Given the description of an element on the screen output the (x, y) to click on. 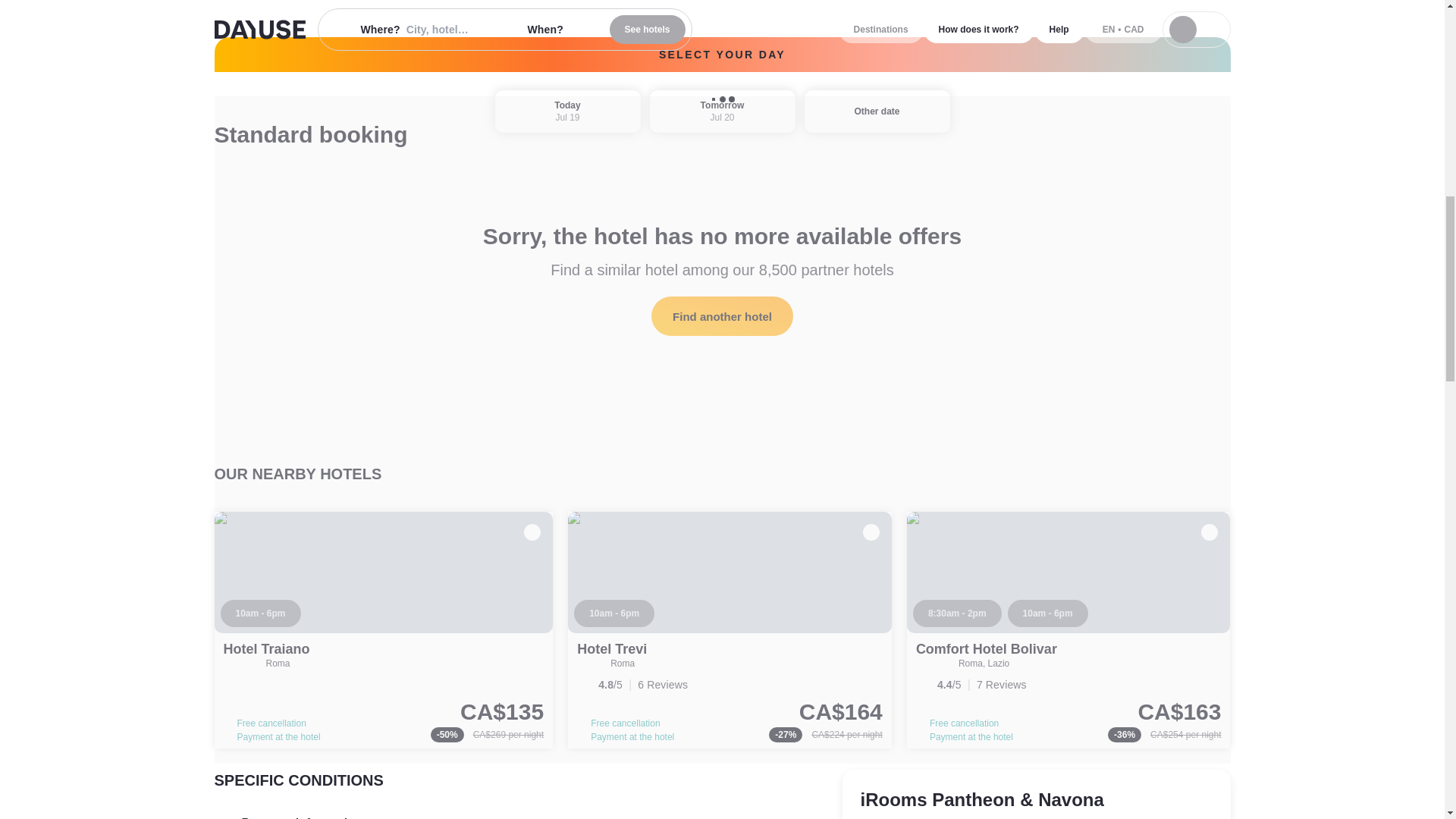
Hotel Traiano (265, 648)
Comfort Hotel Bolivar (1068, 629)
Find another hotel (721, 315)
Hotel Traiano (265, 648)
Hotel Traiano (383, 629)
10am - 6pm (259, 613)
Hotel Trevi (611, 648)
Hotel Trevi (611, 648)
10am - 6pm (613, 613)
Comfort Hotel Bolivar (986, 648)
Hotel Trevi (729, 629)
